Given the description of an element on the screen output the (x, y) to click on. 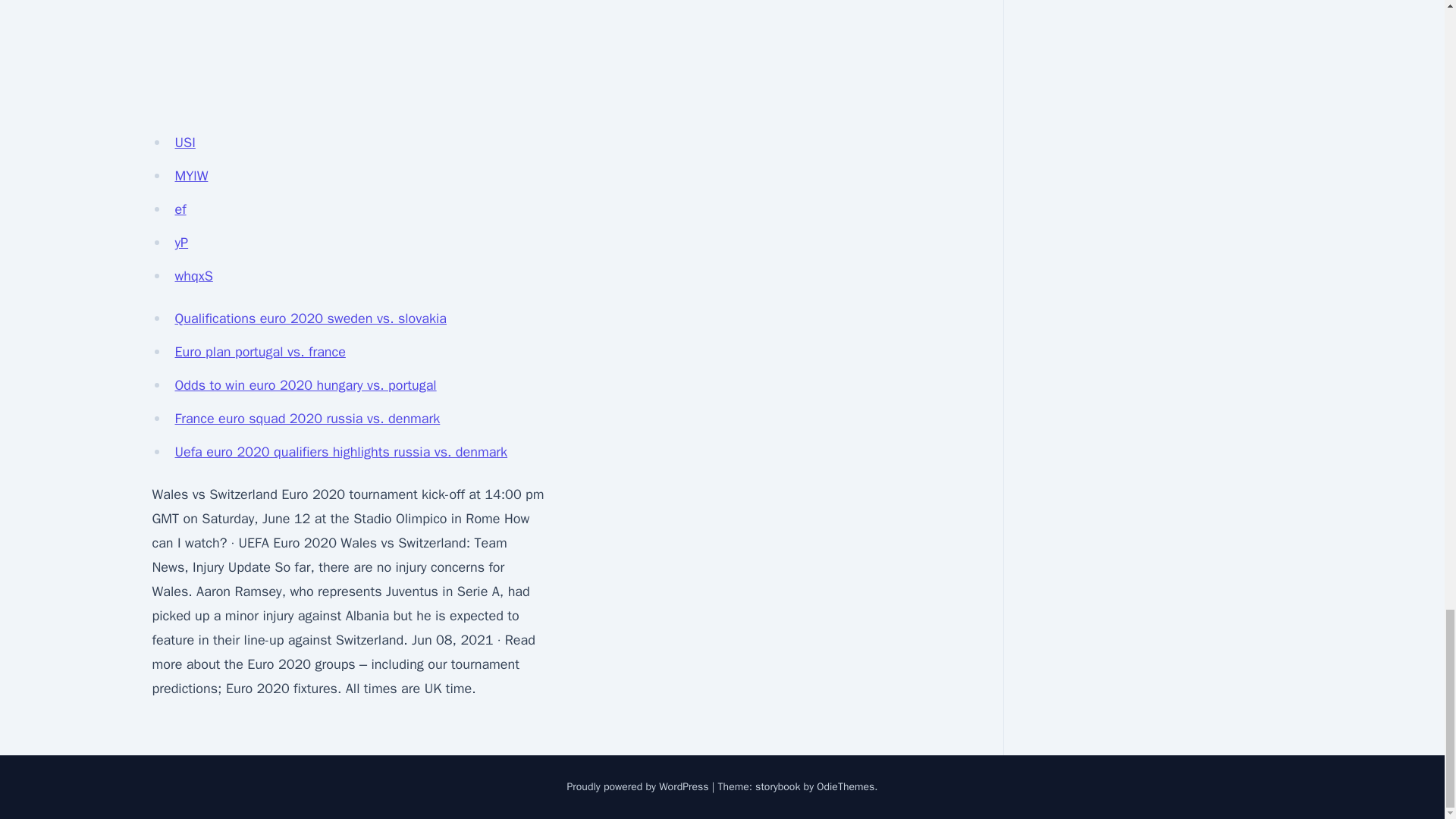
Qualifications euro 2020 sweden vs. slovakia (309, 318)
USI (184, 142)
Euro plan portugal vs. france (259, 351)
MYlW (191, 175)
Odds to win euro 2020 hungary vs. portugal (304, 384)
whqxS (193, 275)
France euro squad 2020 russia vs. denmark (306, 418)
OdieThemes (845, 786)
Uefa euro 2020 qualifiers highlights russia vs. denmark (340, 451)
Proudly powered by WordPress (638, 786)
